Given the description of an element on the screen output the (x, y) to click on. 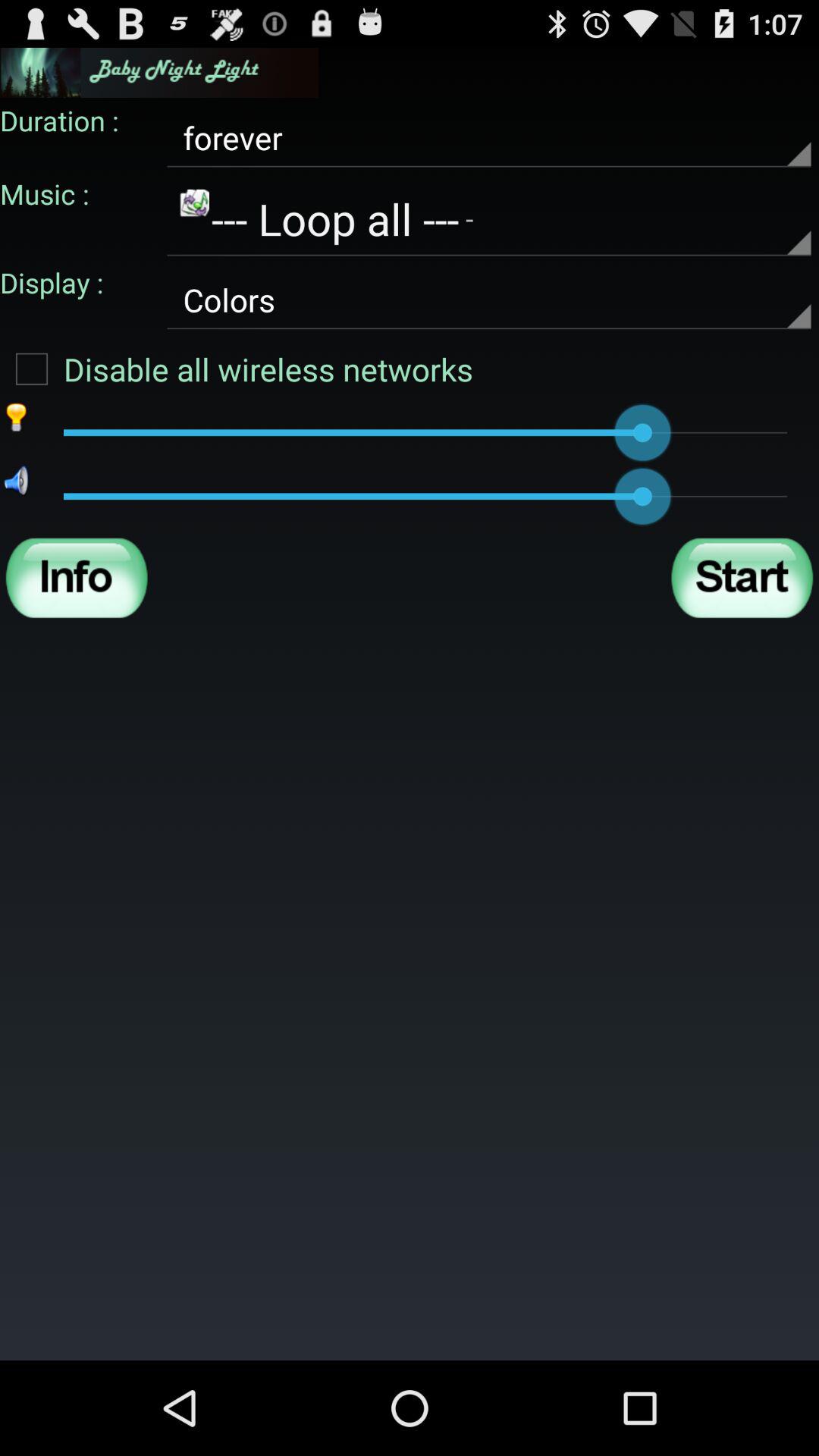
turn off the icon on the left (76, 577)
